Given the description of an element on the screen output the (x, y) to click on. 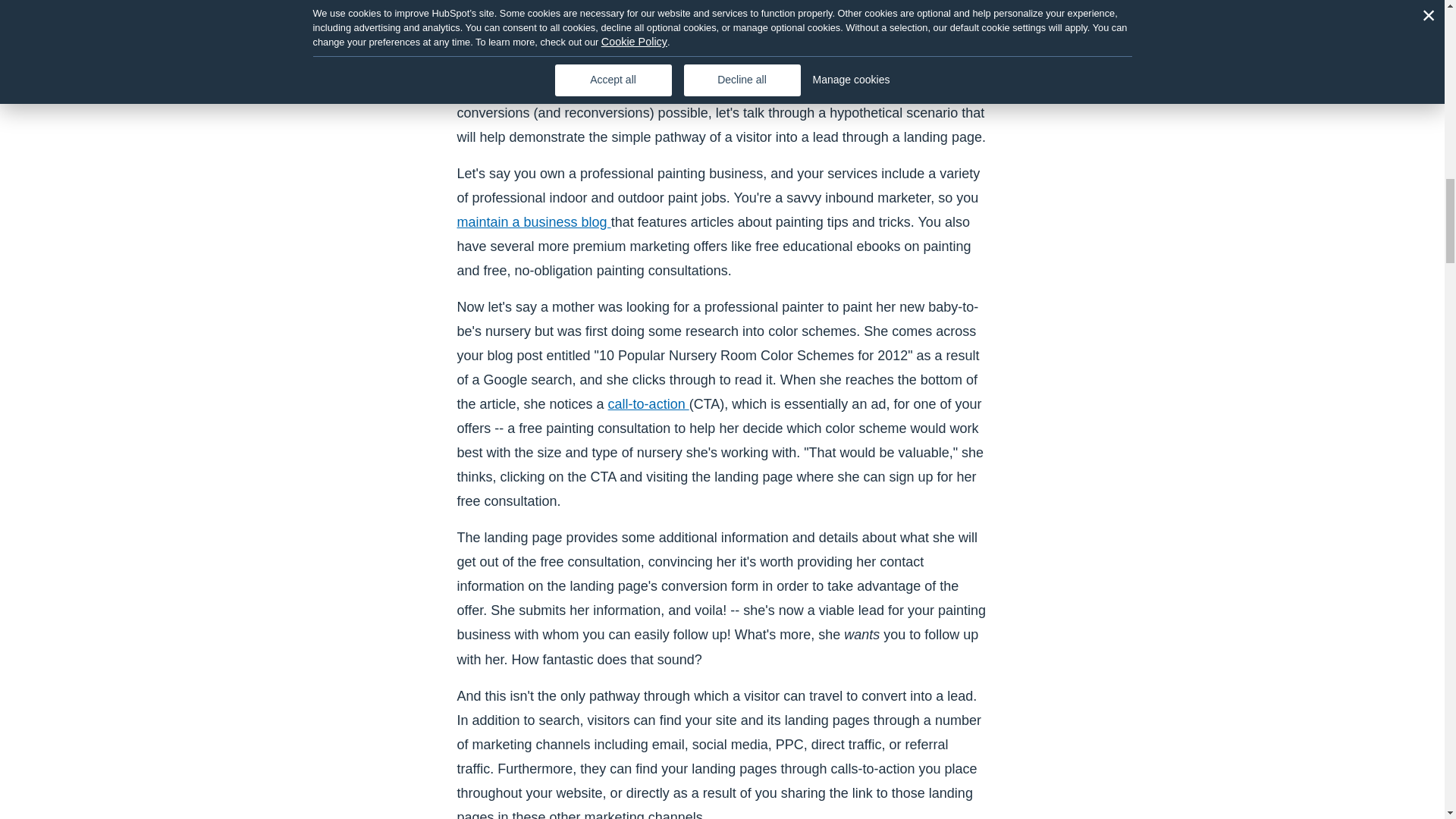
call-to-action (648, 403)
maintain a business blog (533, 222)
